Given the description of an element on the screen output the (x, y) to click on. 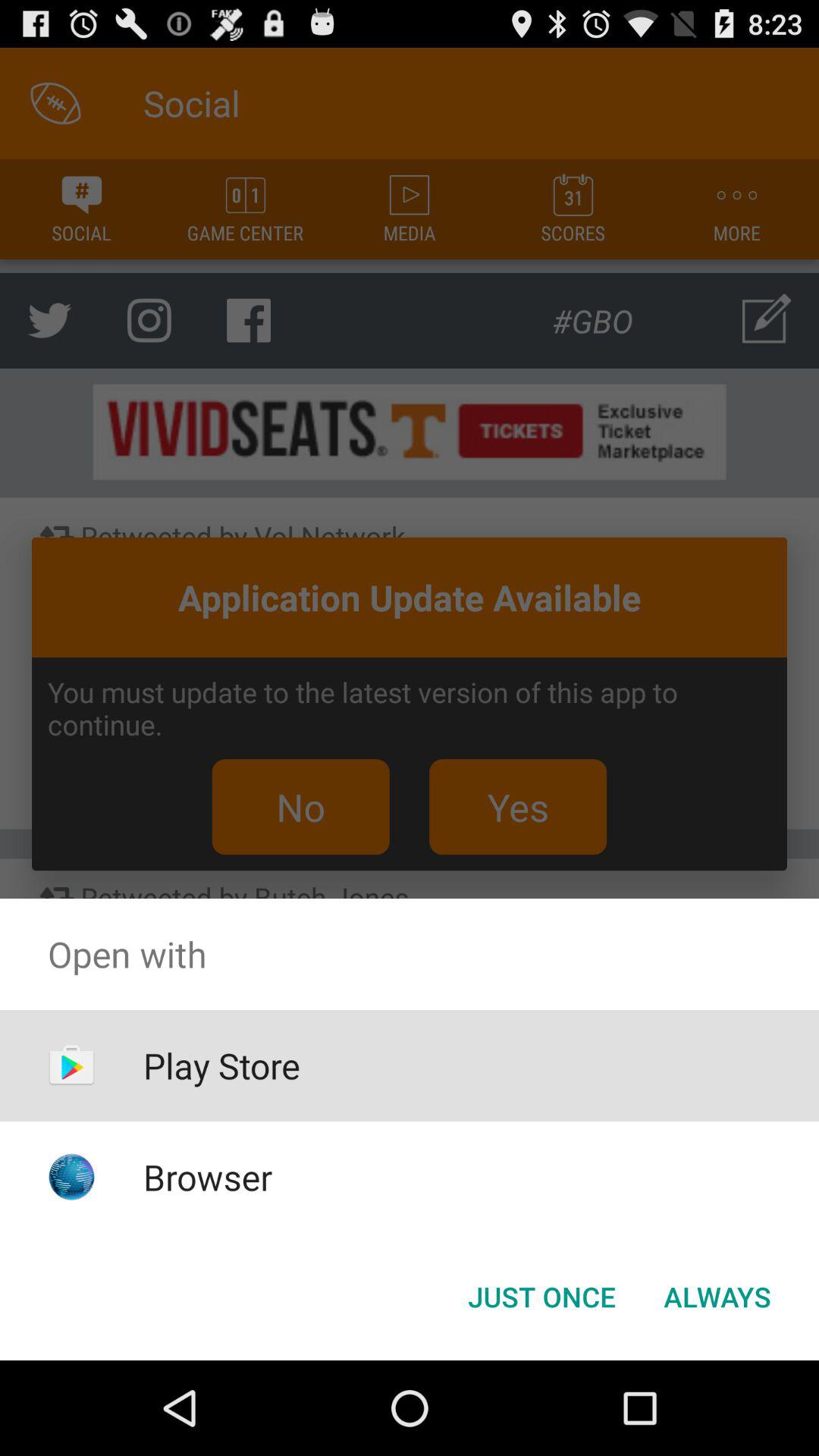
turn off browser (207, 1176)
